Given the description of an element on the screen output the (x, y) to click on. 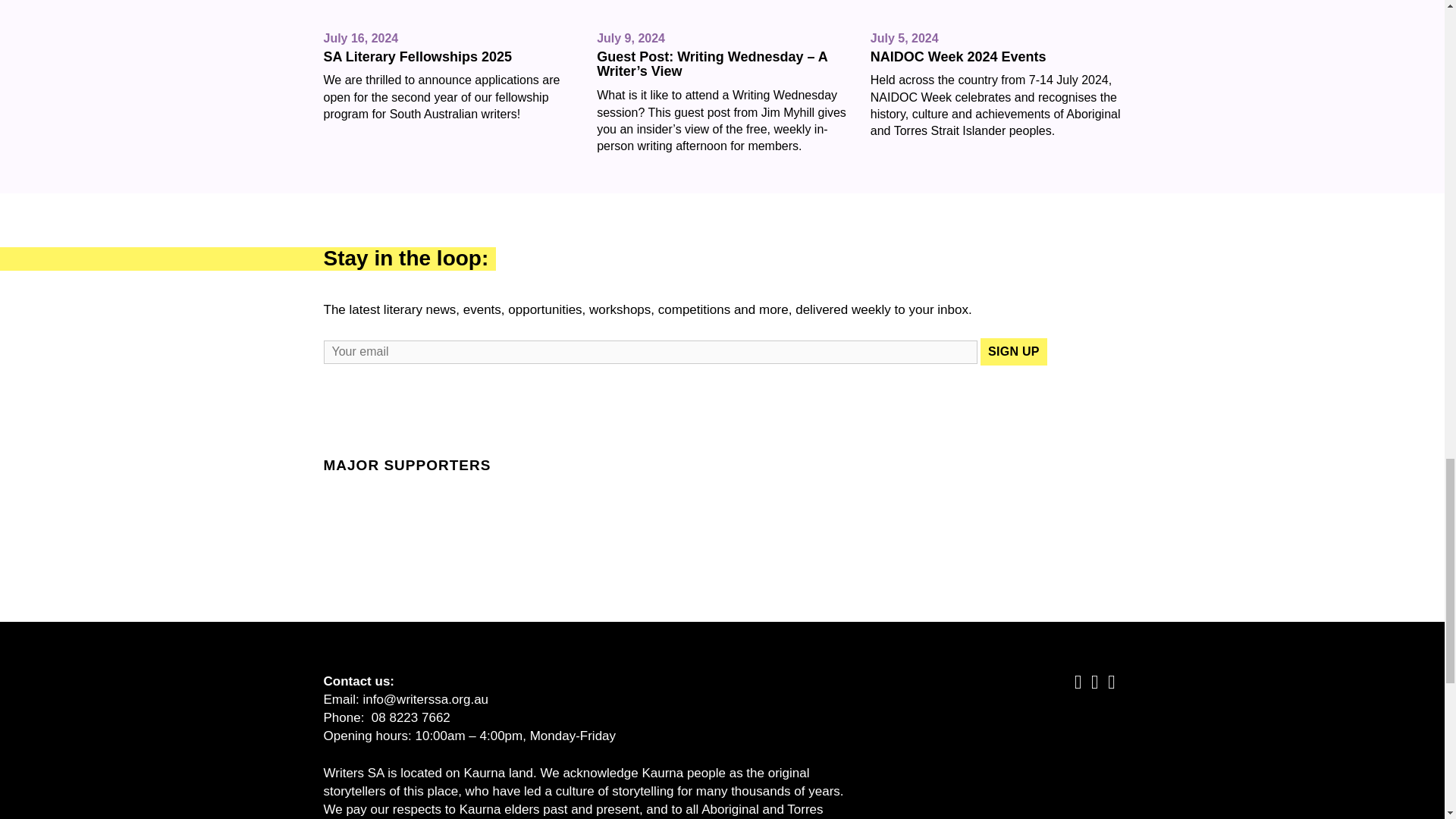
Sign up (1012, 351)
